Given the description of an element on the screen output the (x, y) to click on. 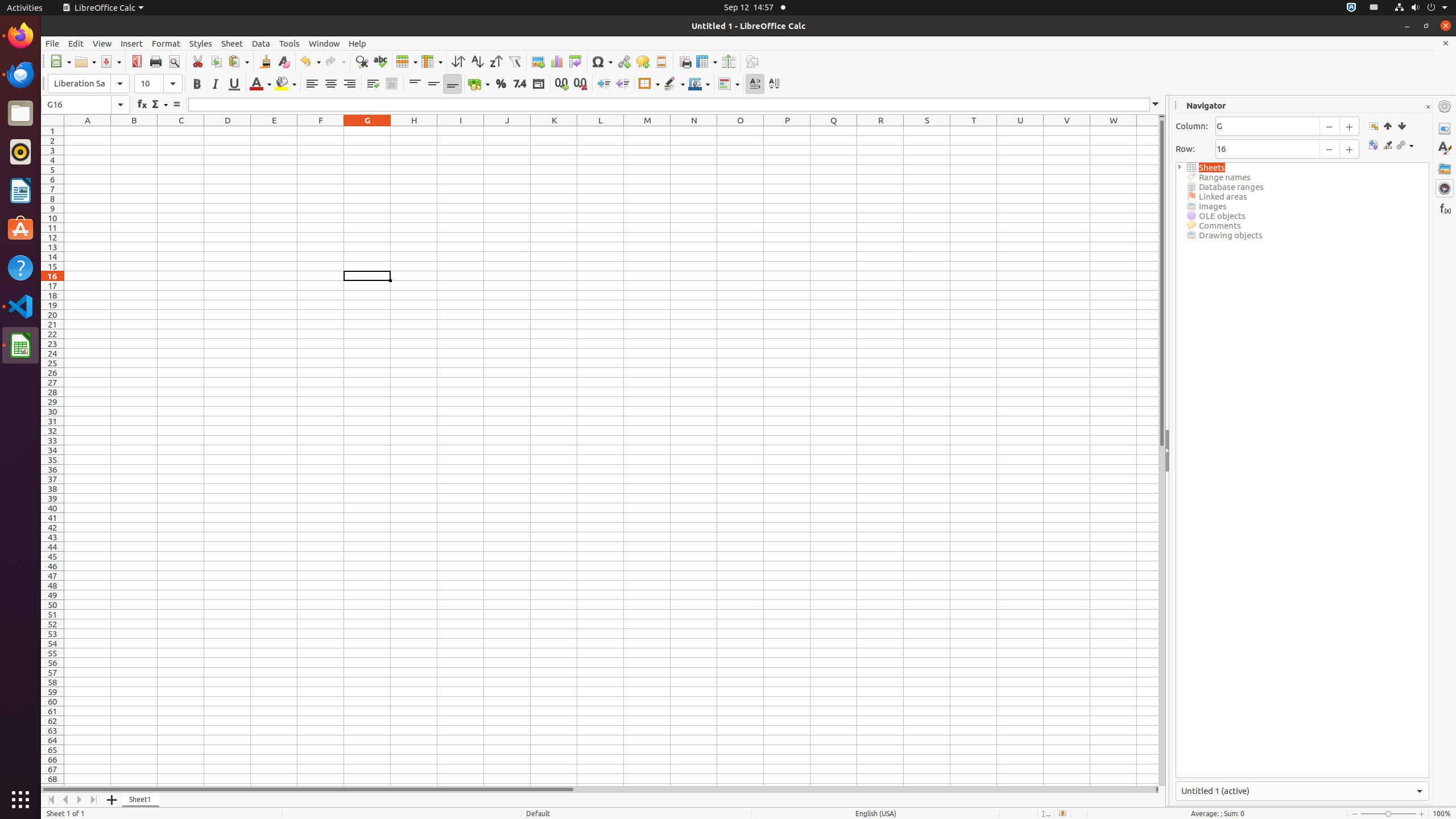
End Element type: push-button (1401, 125)
Thunderbird Mail Element type: push-button (20, 74)
Styles Element type: radio-button (1444, 148)
Properties Element type: radio-button (1444, 128)
System Element type: menu (1420, 7)
